Given the description of an element on the screen output the (x, y) to click on. 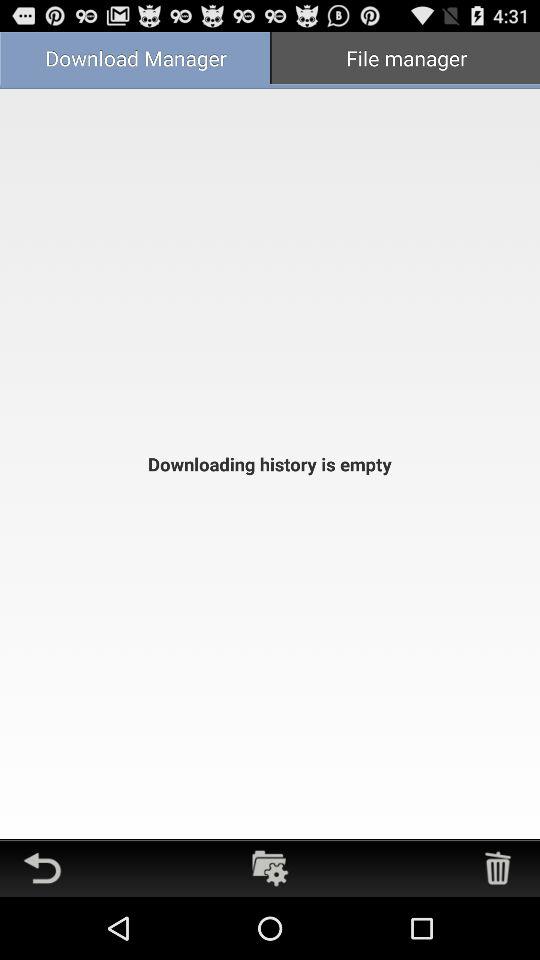
flip until the file manager item (405, 60)
